Given the description of an element on the screen output the (x, y) to click on. 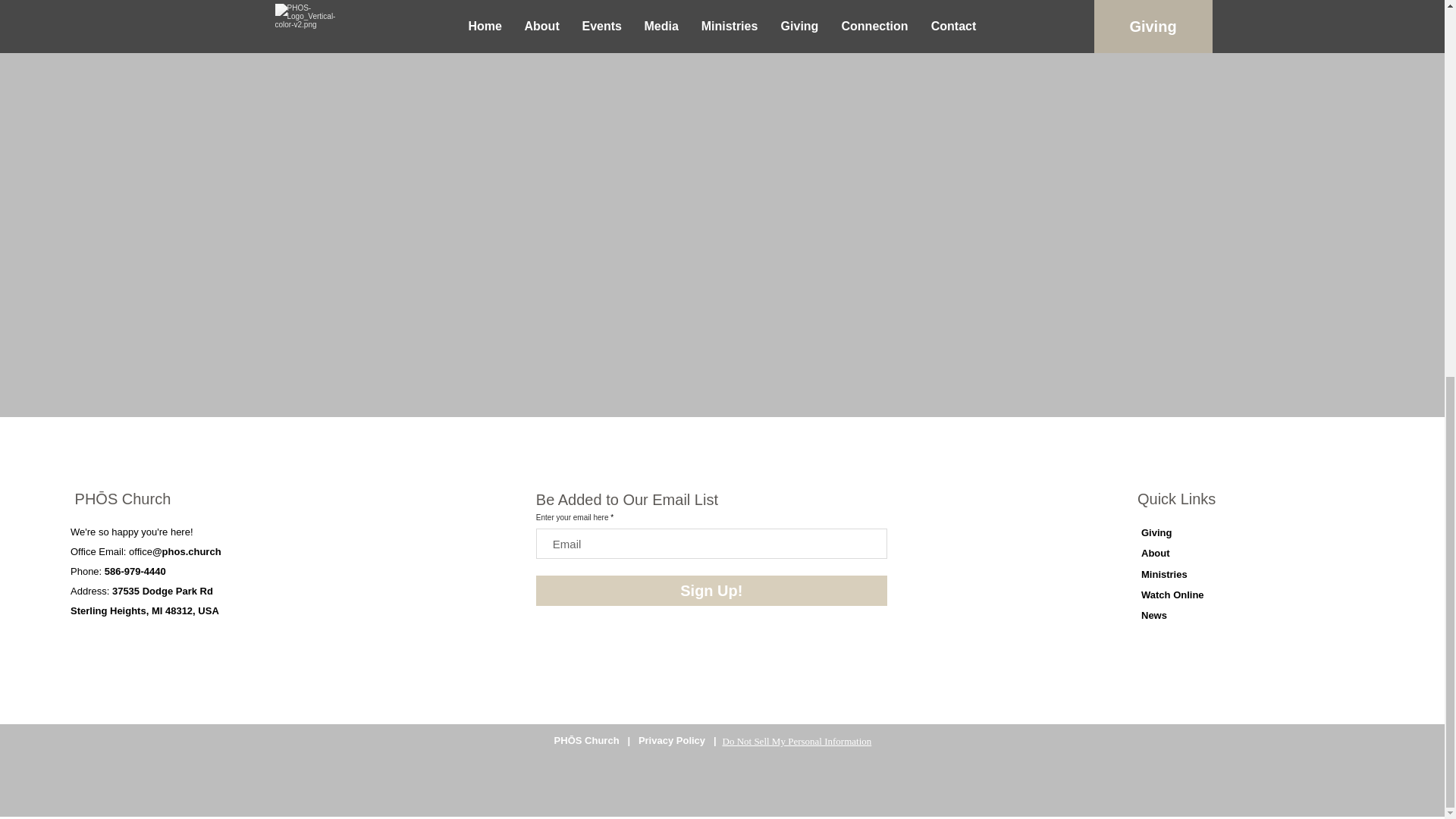
News (1154, 614)
Sign Up! (710, 590)
About  (1156, 552)
Do Not Sell My Personal Information (796, 741)
Giving (1156, 532)
Watch Online (1172, 594)
Ministries  (1165, 573)
